Given the description of an element on the screen output the (x, y) to click on. 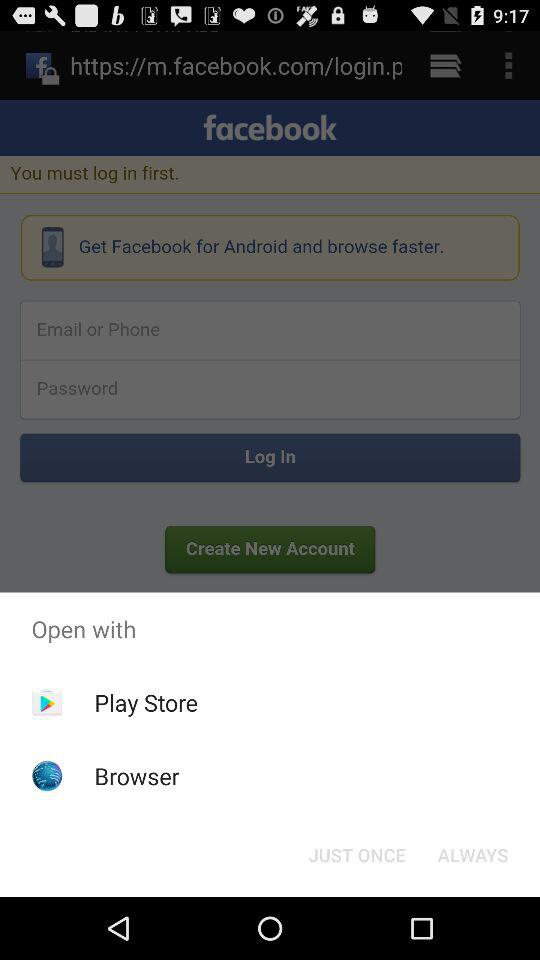
flip to the just once button (356, 854)
